Given the description of an element on the screen output the (x, y) to click on. 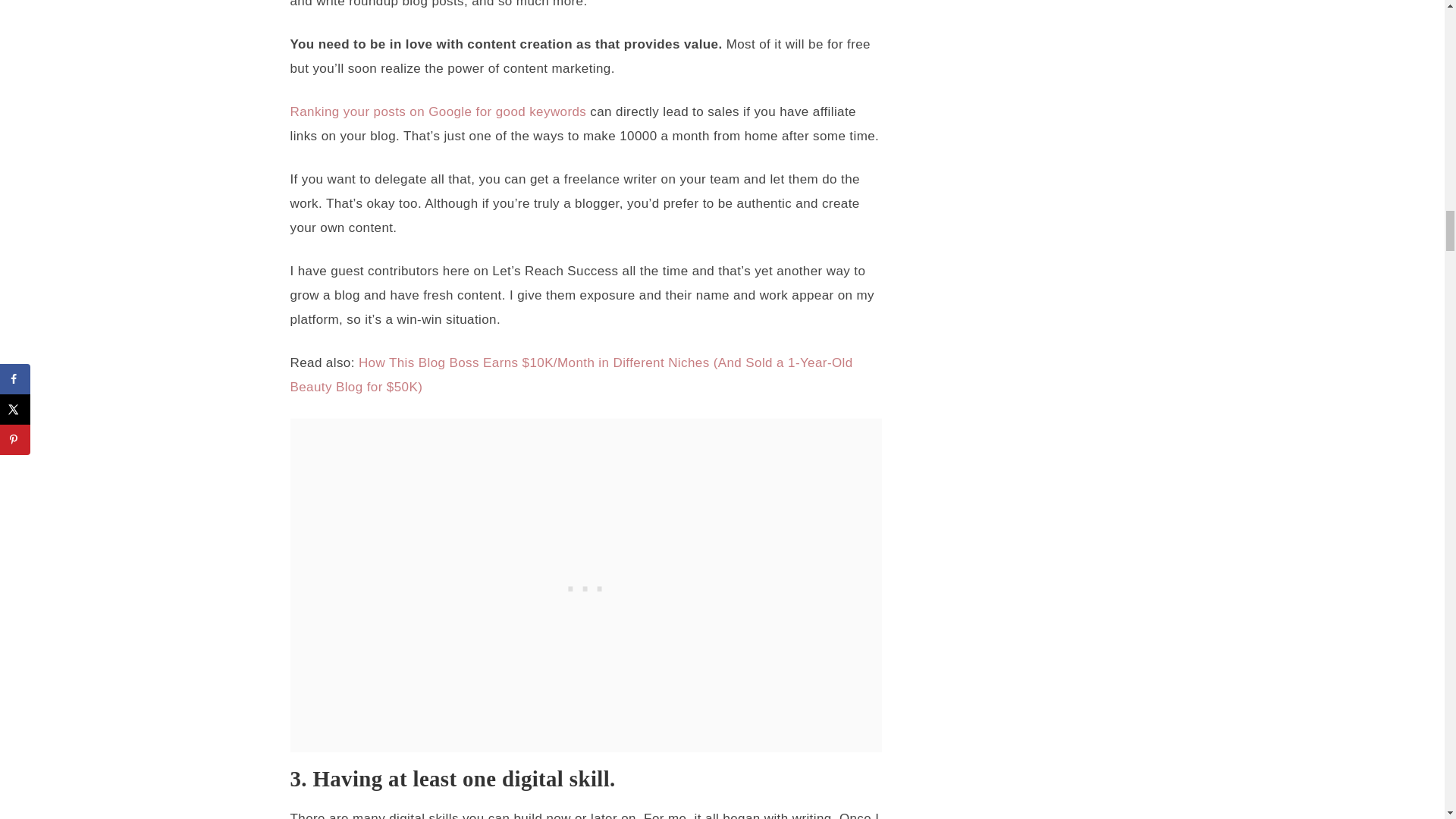
Ranking your posts on Google for good keywords (437, 111)
